Given the description of an element on the screen output the (x, y) to click on. 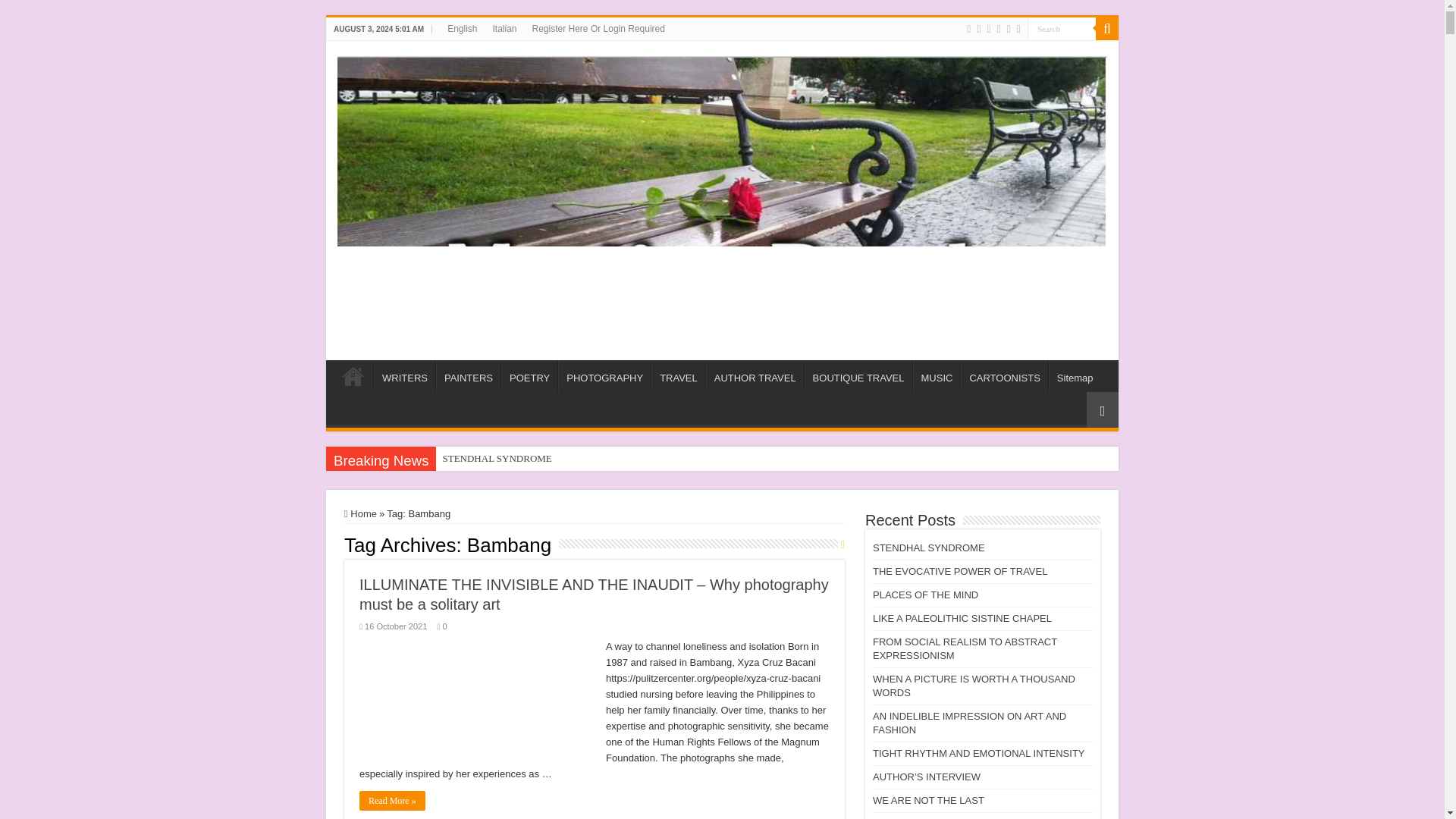
Italian (504, 28)
MUSIC (936, 376)
Search (1061, 28)
BOUTIQUE TRAVEL (858, 376)
CARTOONISTS (1003, 376)
PAINTERS (467, 376)
Home (352, 376)
PHOTOGRAPHY (603, 376)
Search (1061, 28)
POETRY (528, 376)
Search (1107, 28)
TRAVEL (677, 376)
AUTHOR TRAVEL (754, 376)
WRITERS (404, 376)
STENDHAL SYNDROME (571, 458)
